Given the description of an element on the screen output the (x, y) to click on. 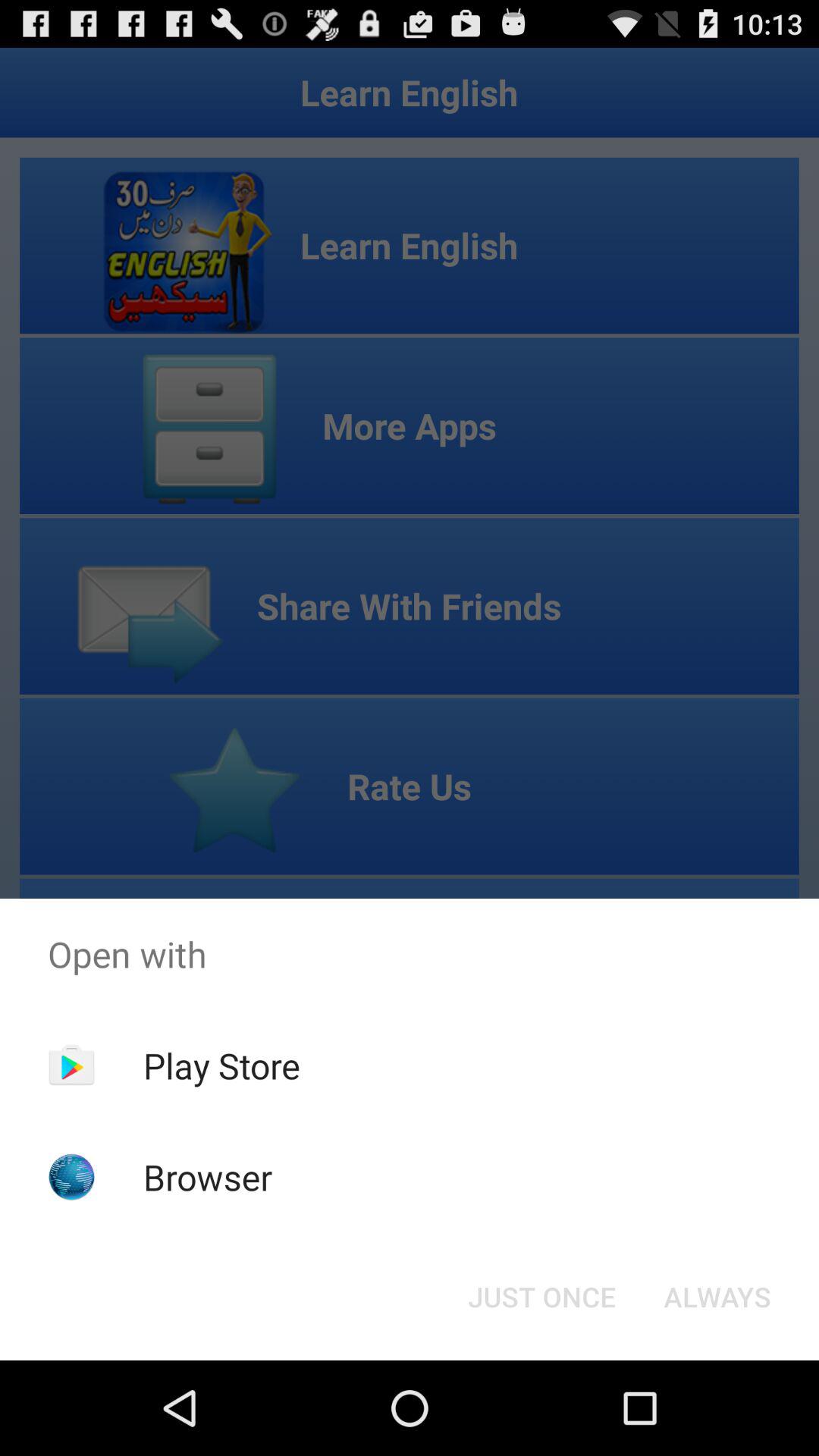
press just once at the bottom (541, 1296)
